Given the description of an element on the screen output the (x, y) to click on. 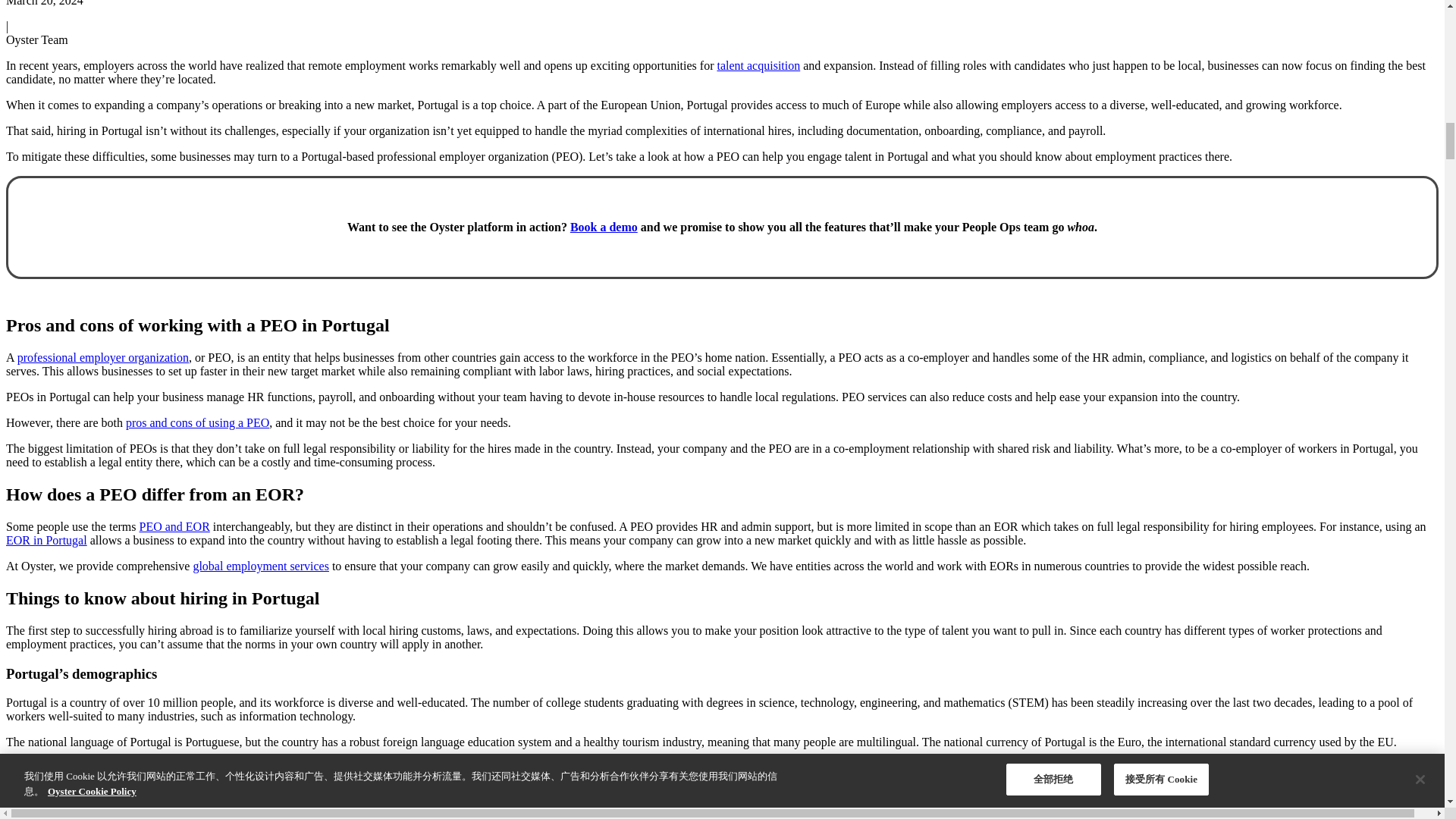
pros and cons of using a PEO (197, 422)
talent acquisition (757, 65)
Book a demo (603, 226)
PEO and EOR (174, 526)
professional employer organization (103, 357)
EOR in Portugal (46, 540)
global employment services (260, 565)
